Given the description of an element on the screen output the (x, y) to click on. 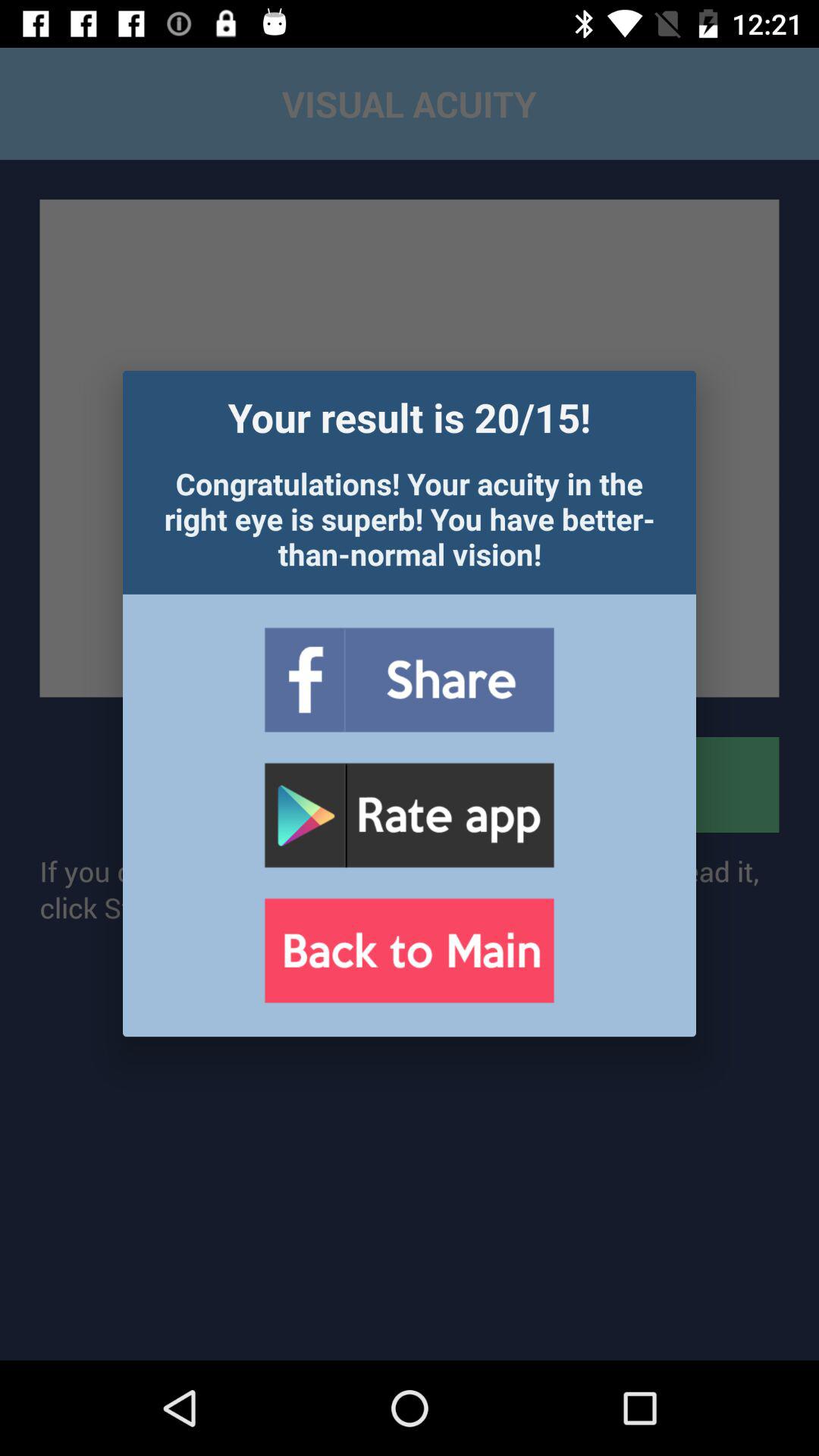
rate app on play store (408, 815)
